Given the description of an element on the screen output the (x, y) to click on. 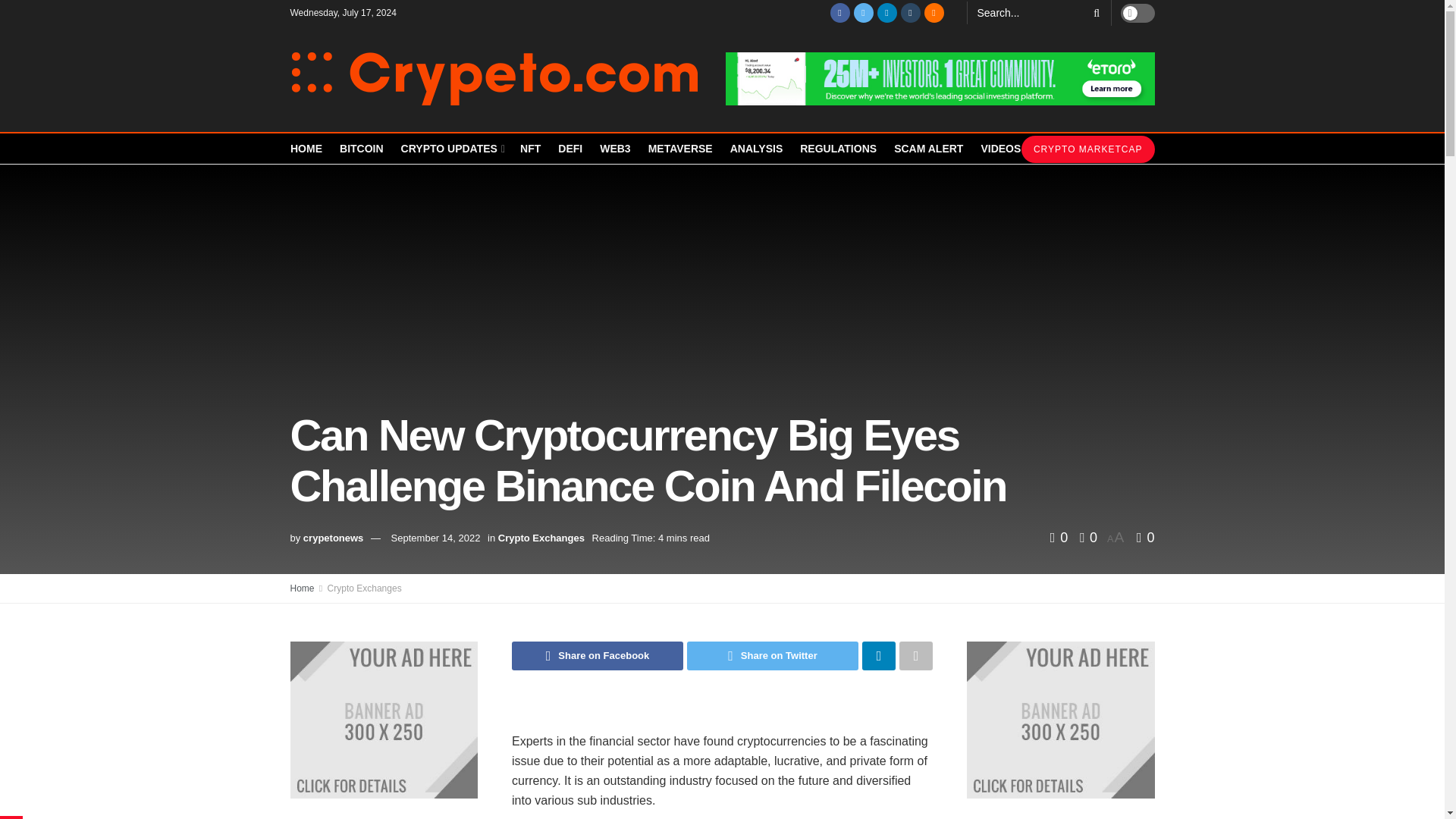
CRYPTO UPDATES (451, 148)
NFT (529, 148)
DEFI (569, 148)
HOME (305, 148)
SCAM ALERT (927, 148)
METAVERSE (680, 148)
REGULATIONS (837, 148)
ANALYSIS (756, 148)
BITCOIN (361, 148)
CRYPTO MARKETCAP (1088, 148)
WEB3 (614, 148)
VIDEOS (999, 148)
